Given the description of an element on the screen output the (x, y) to click on. 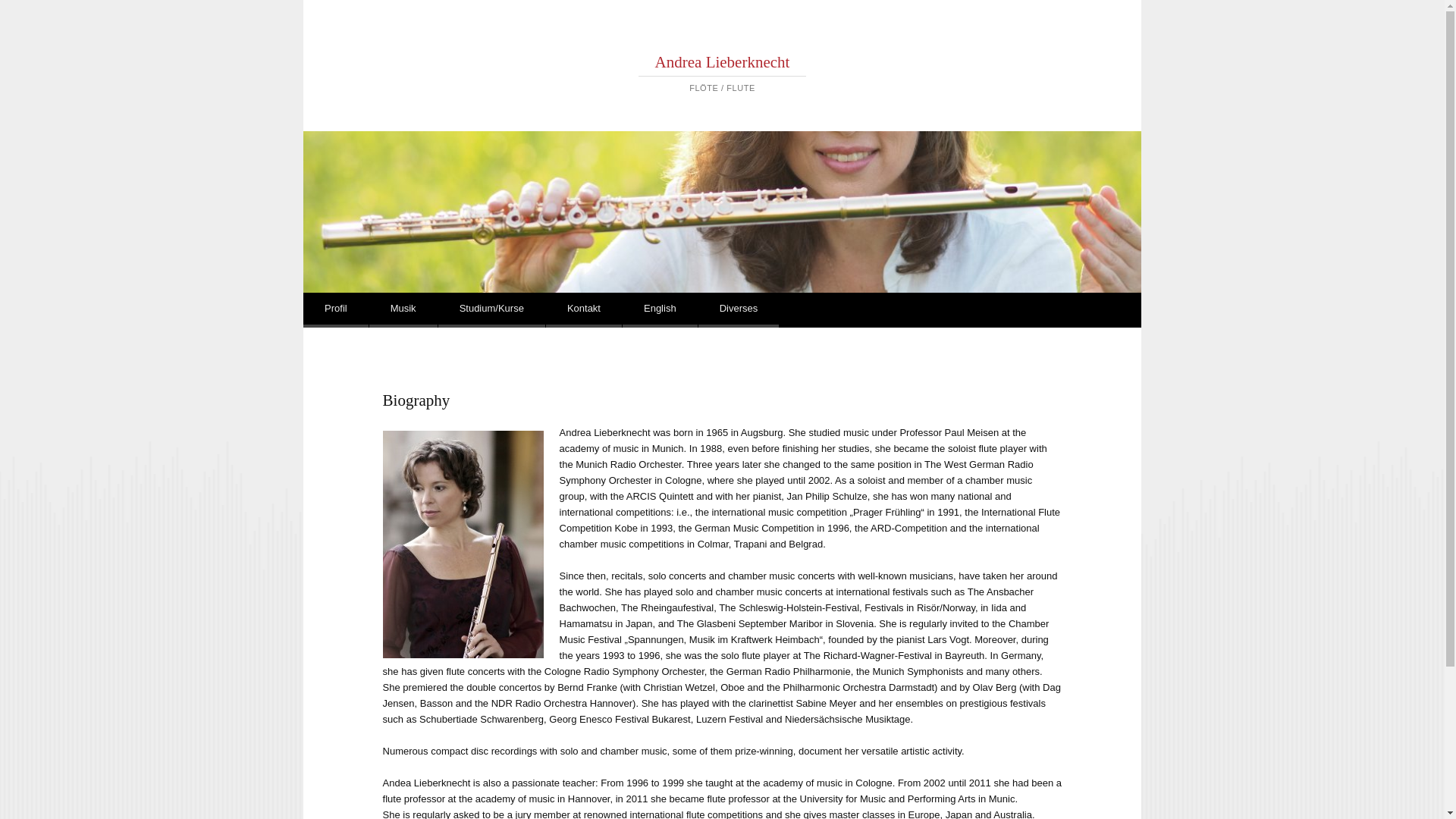
Andrea Lieberknecht (722, 62)
Springe zum Inhalt (365, 309)
Andrea Lieberknecht (722, 62)
Kontakt (583, 309)
English (660, 309)
Profil (335, 309)
Springe zum Inhalt (365, 309)
Musik (403, 309)
